Given the description of an element on the screen output the (x, y) to click on. 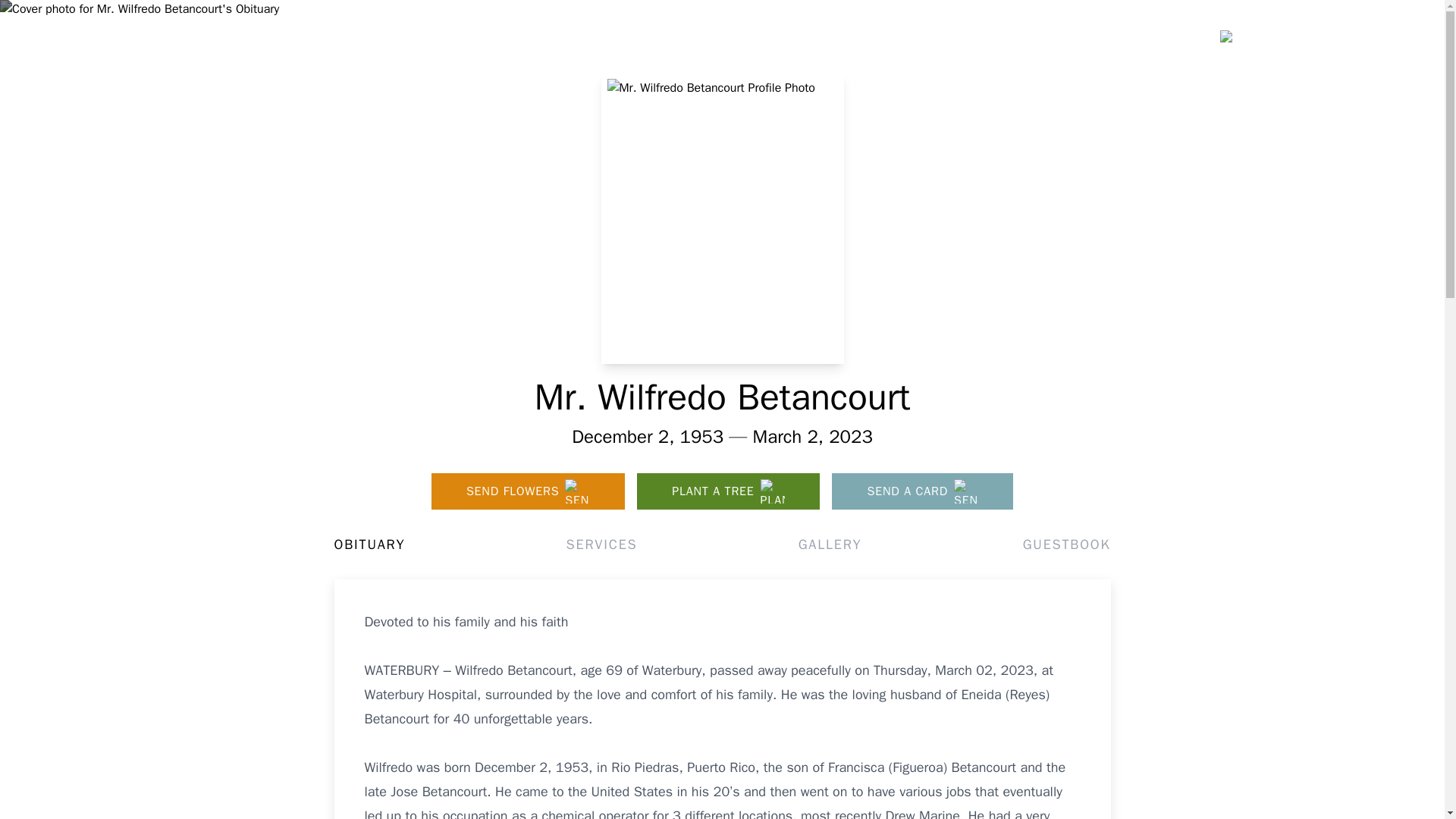
GALLERY (829, 544)
OBITUARY (368, 544)
SEND A CARD (922, 491)
GUESTBOOK (1066, 544)
SERVICES (601, 544)
SEND FLOWERS (527, 491)
PLANT A TREE (728, 491)
